Given the description of an element on the screen output the (x, y) to click on. 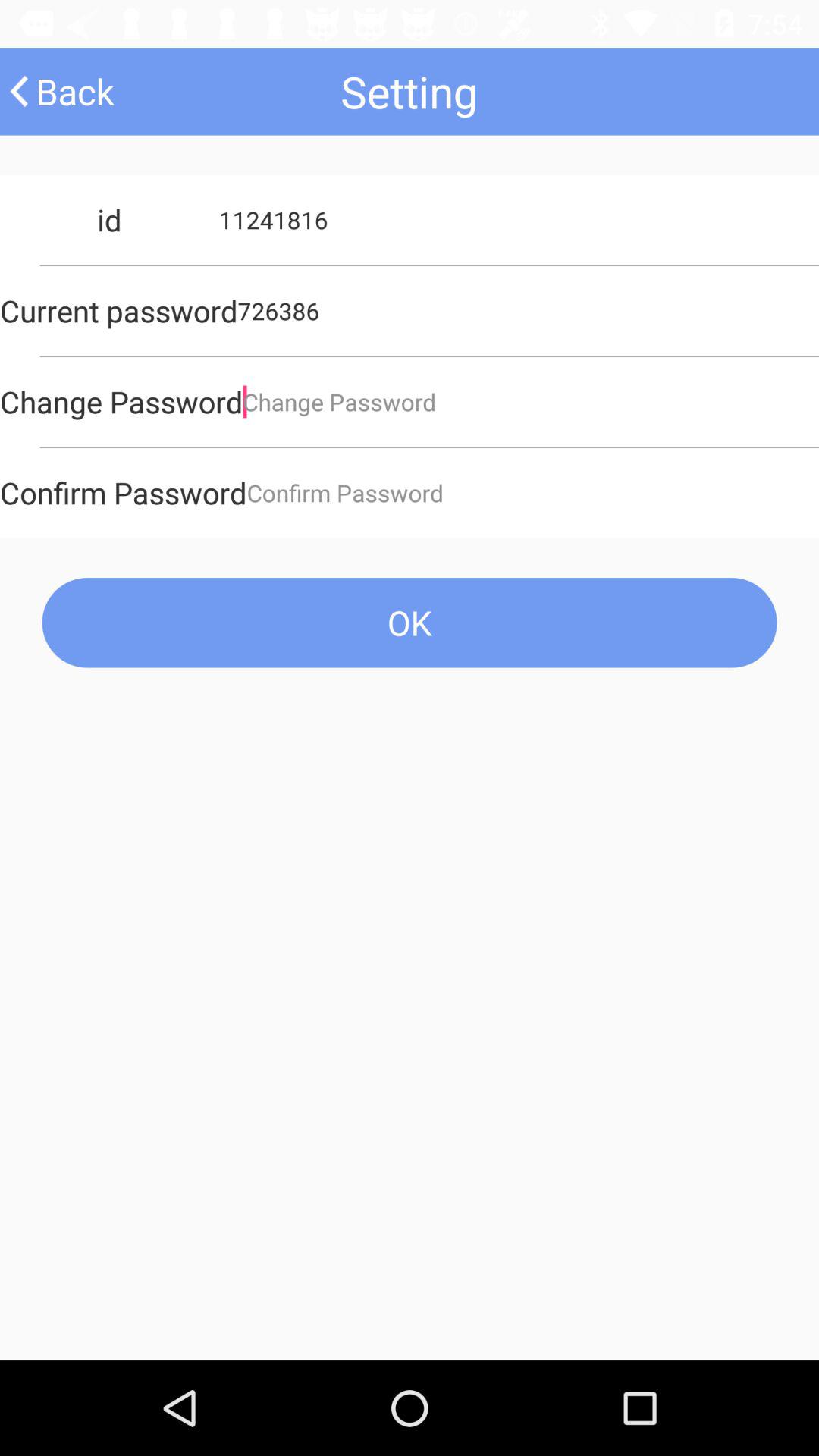
choose the item below the confirm password icon (409, 622)
